Given the description of an element on the screen output the (x, y) to click on. 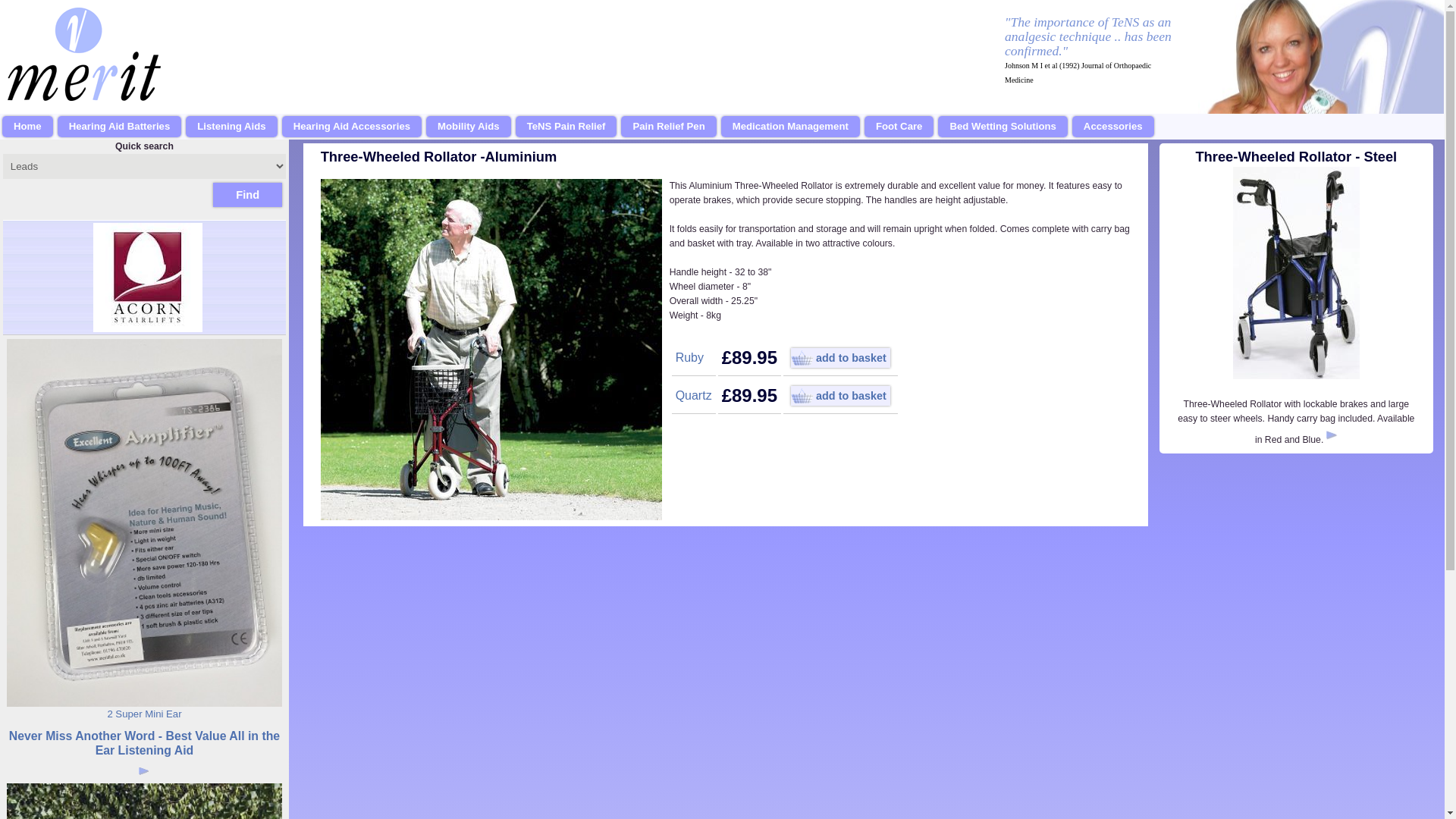
Pain Relief Pen (668, 126)
Home (27, 126)
TeNS Pain Relief (566, 126)
Find (247, 194)
Bed Wetting Solutions (1002, 126)
Quartz (693, 395)
Listening Aids (231, 126)
add to basket (839, 395)
Hearing Aid Accessories (352, 126)
Find out about Acorn Stair Lifts (143, 277)
